Given the description of an element on the screen output the (x, y) to click on. 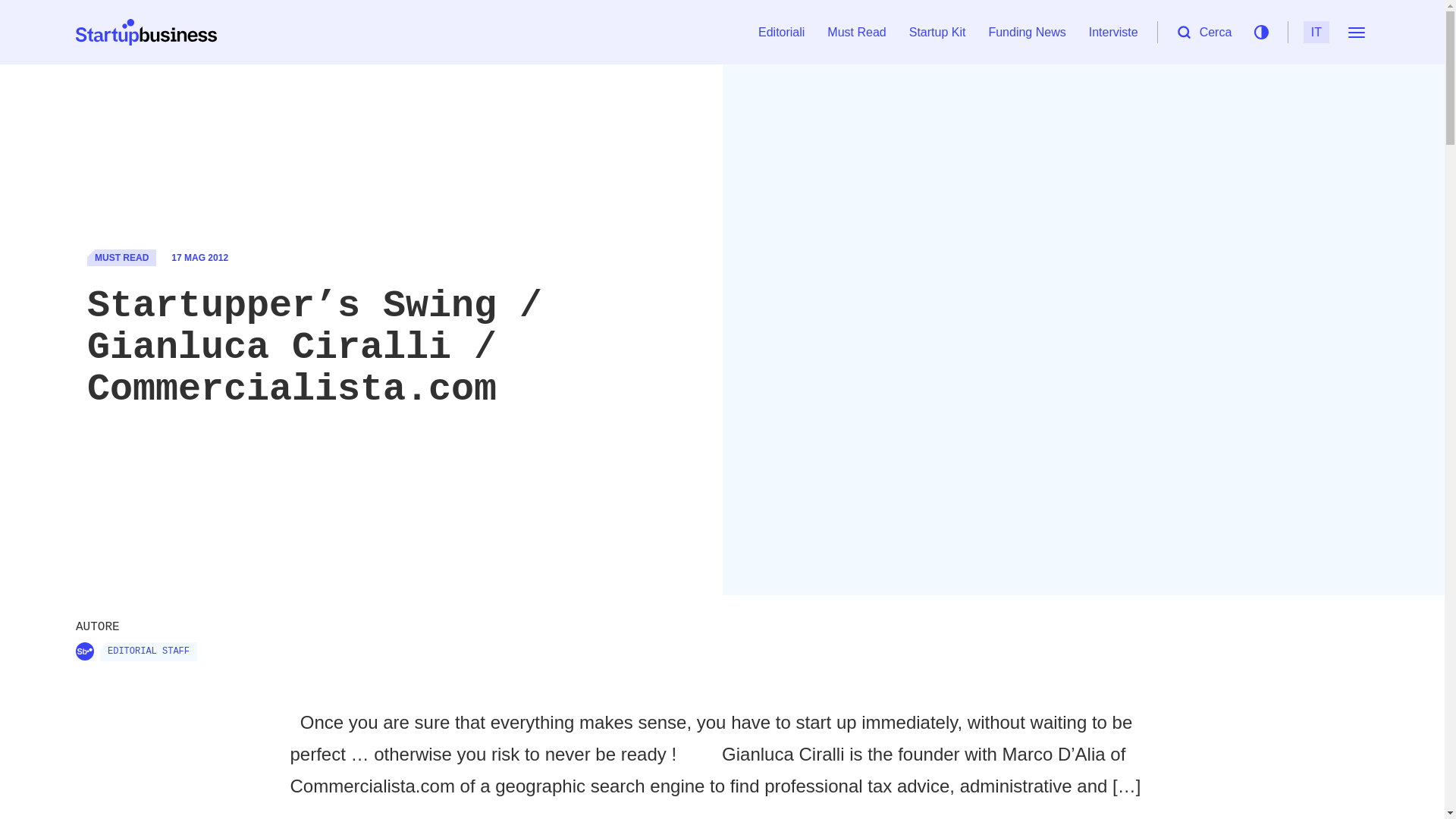
Startup Kit (937, 32)
Startup Kit (937, 32)
Cerca (1204, 32)
IT (1316, 32)
Editoriali (781, 32)
Editoriali (781, 32)
Cerca (1204, 32)
Funding News (1026, 32)
Interviste (1112, 32)
Toggle navigation (1355, 31)
